Given the description of an element on the screen output the (x, y) to click on. 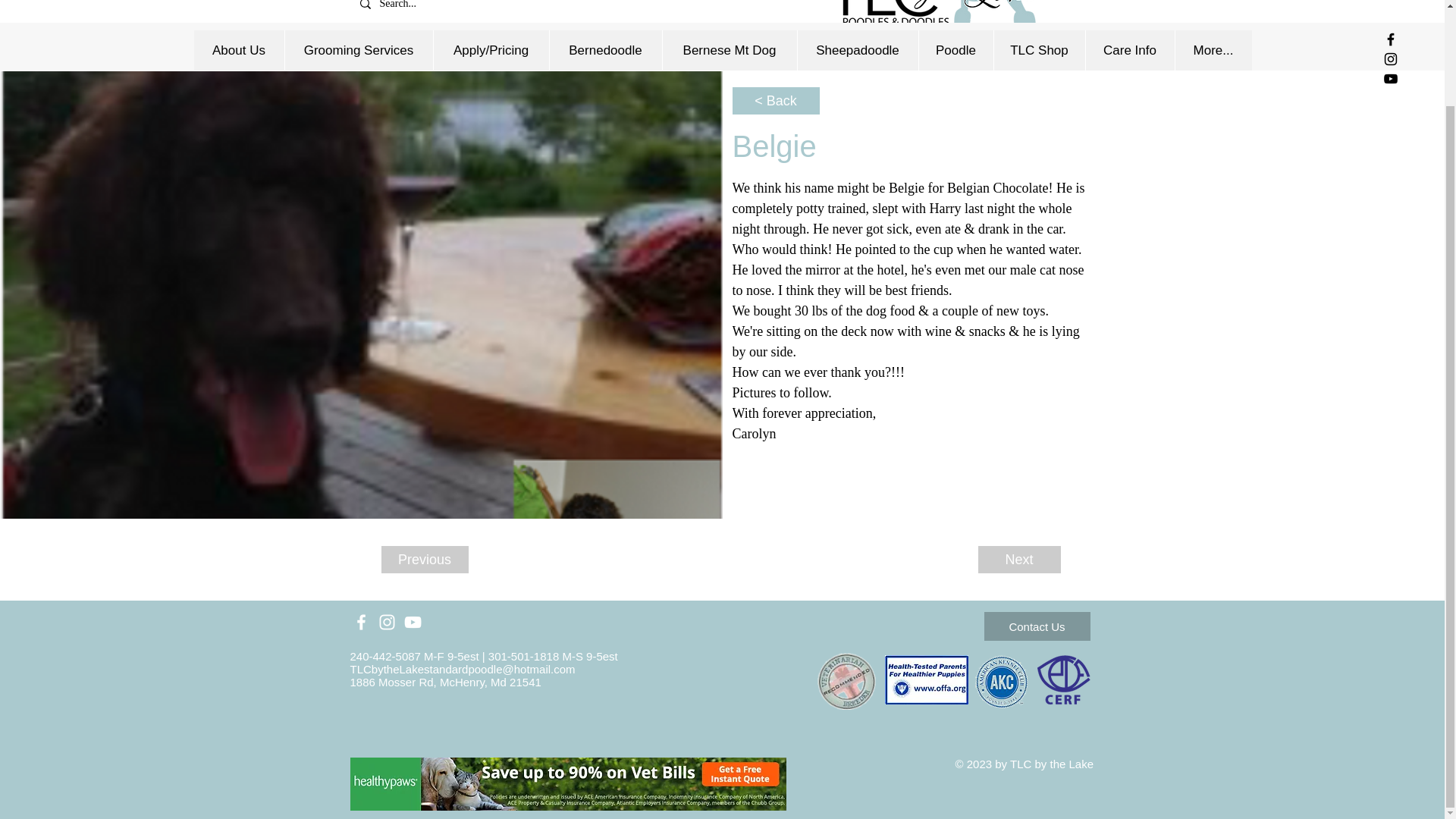
Bernese Mt Dog (728, 50)
About Us (238, 50)
Grooming Services (357, 50)
Sheepadoodle (856, 50)
Bernedoodle (605, 50)
